Given the description of an element on the screen output the (x, y) to click on. 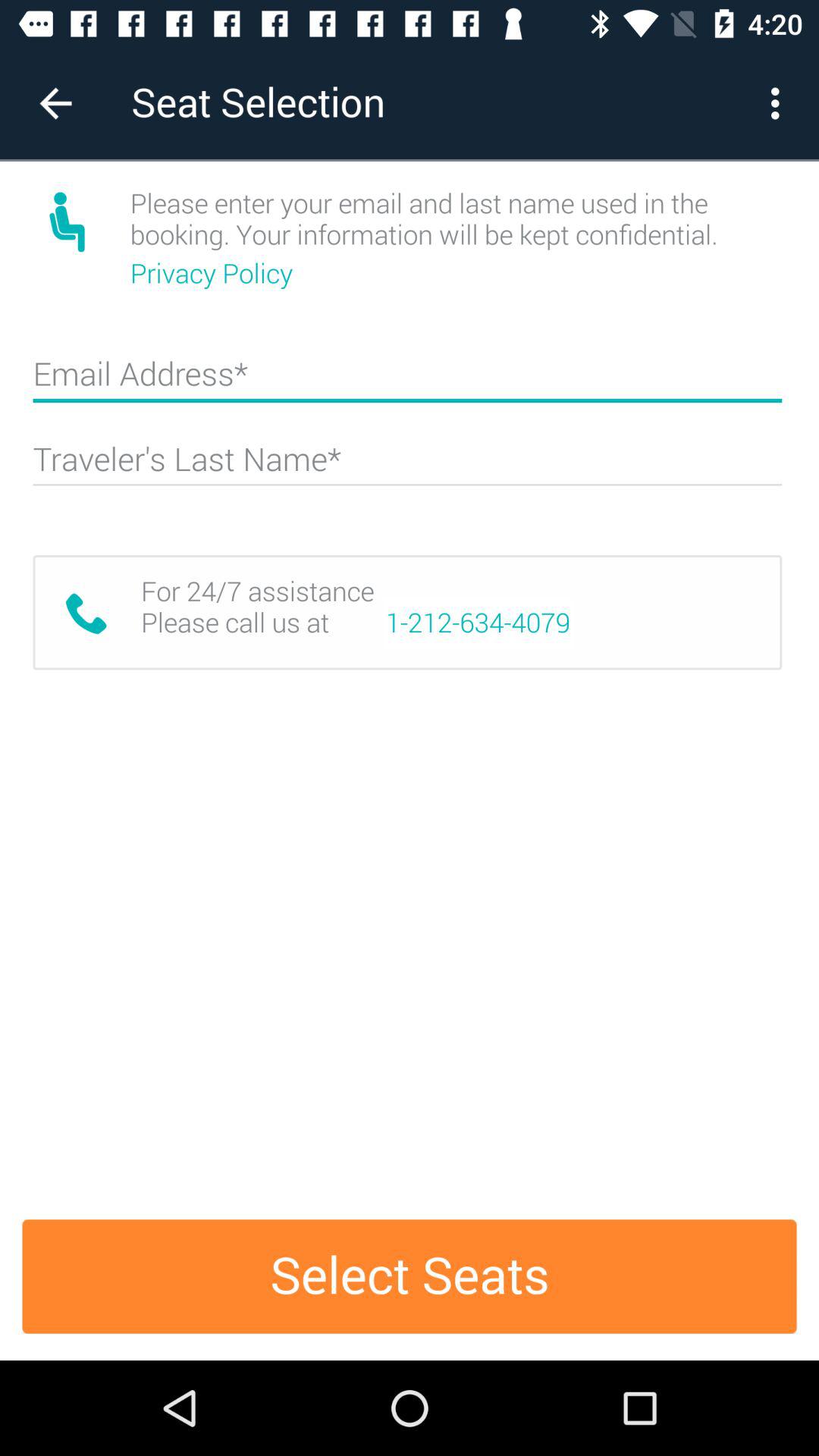
choose the icon to the right of the seat selection item (779, 103)
